Given the description of an element on the screen output the (x, y) to click on. 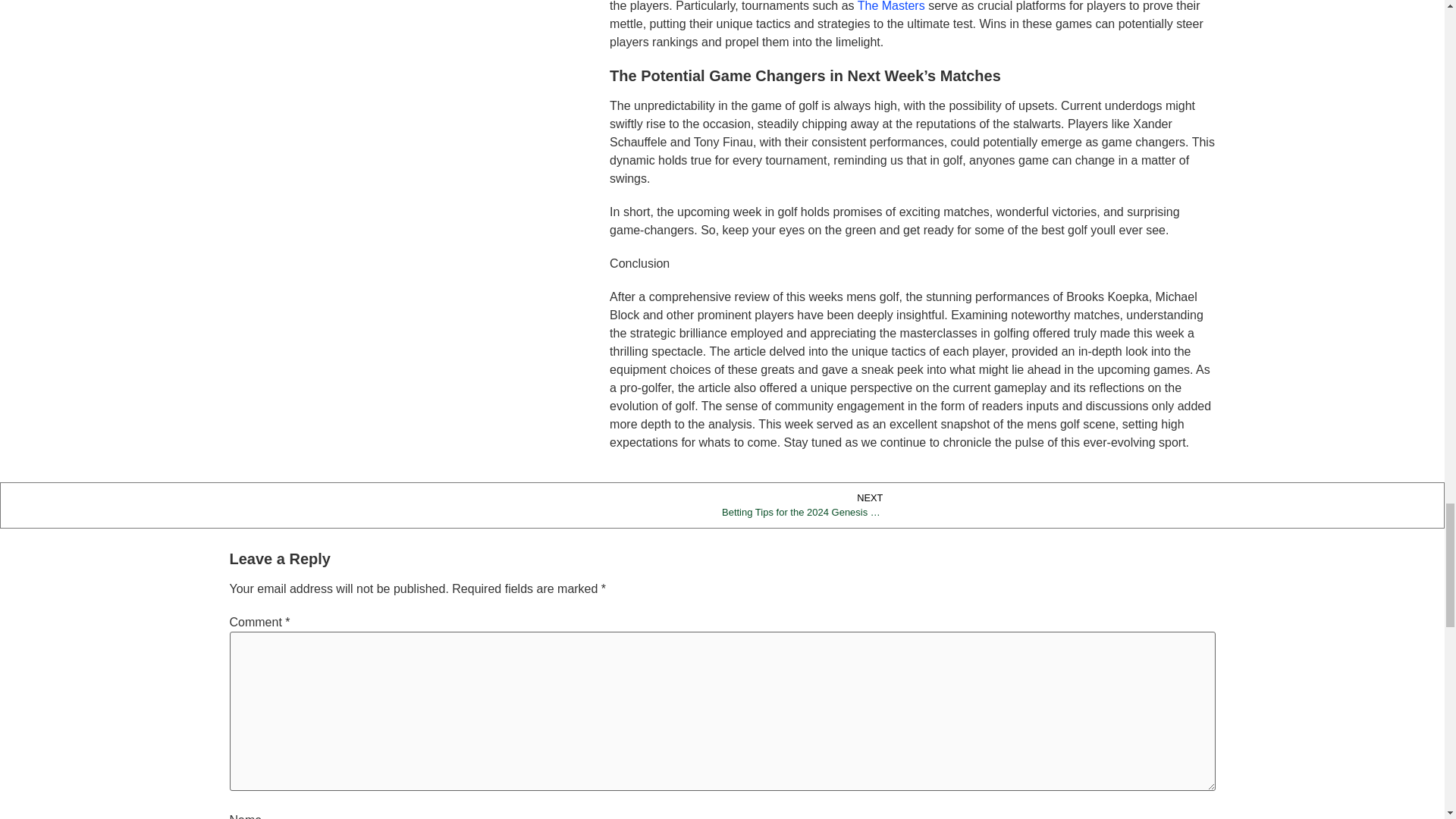
The Masters (890, 6)
